Given the description of an element on the screen output the (x, y) to click on. 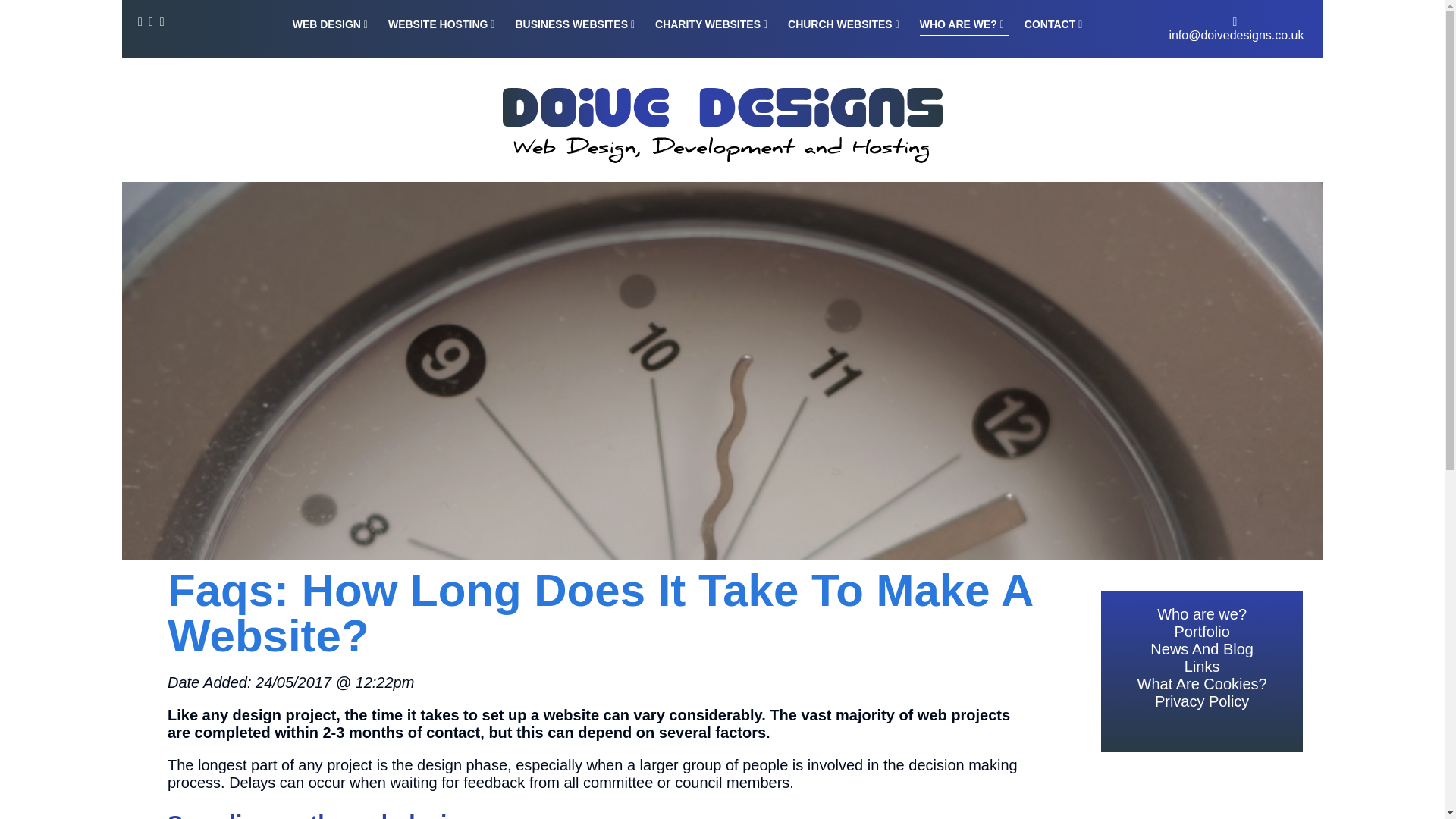
Go to the Website Hosting section (443, 24)
WEB DESIGN   (332, 24)
Go to the Business Websites section (576, 24)
WHO ARE WE?   (964, 24)
CHARITY WEBSITES   (713, 24)
Go to the Web Design section (332, 24)
Go to the Who are we? section (964, 24)
Go to the Contact section (1055, 24)
Go to the Church Websites section (846, 24)
CONTACT   (1055, 24)
BUSINESS WEBSITES   (576, 24)
CHURCH WEBSITES   (846, 24)
Go to the Charity Websites section (713, 24)
WEBSITE HOSTING   (443, 24)
